Given the description of an element on the screen output the (x, y) to click on. 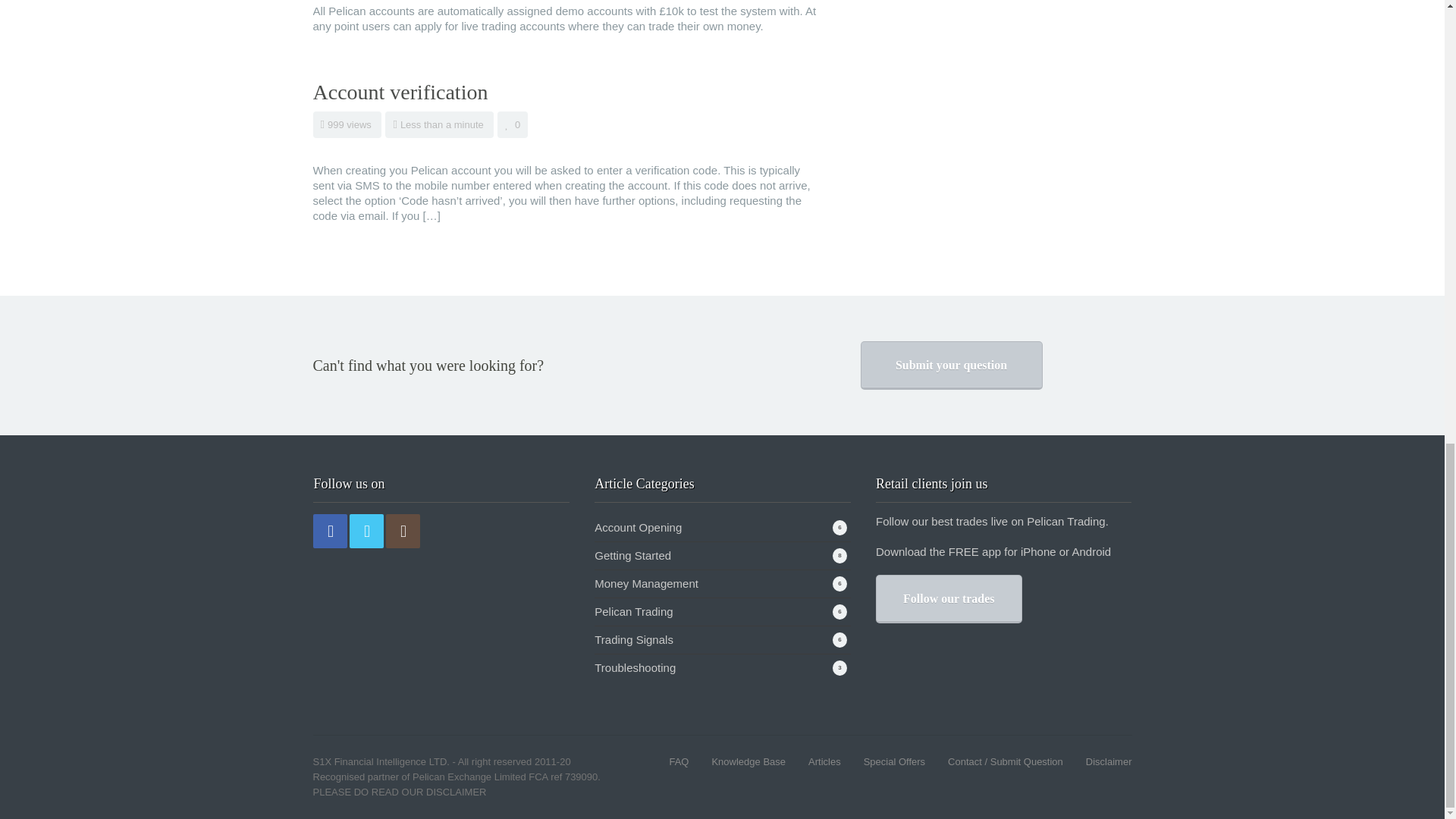
Getting Started (632, 554)
Account Opening (637, 526)
Like this (512, 124)
Money Management (646, 583)
S1X Financial Intelligence LTD. (380, 761)
Trading Signals (633, 639)
Follow our trades (949, 598)
Recognised partner (355, 776)
0 (512, 124)
Permanent Link to Account verification (400, 92)
Troubleshooting (634, 667)
Account verification (400, 92)
Submit your question (951, 365)
Pelican Trading (633, 611)
